Given the description of an element on the screen output the (x, y) to click on. 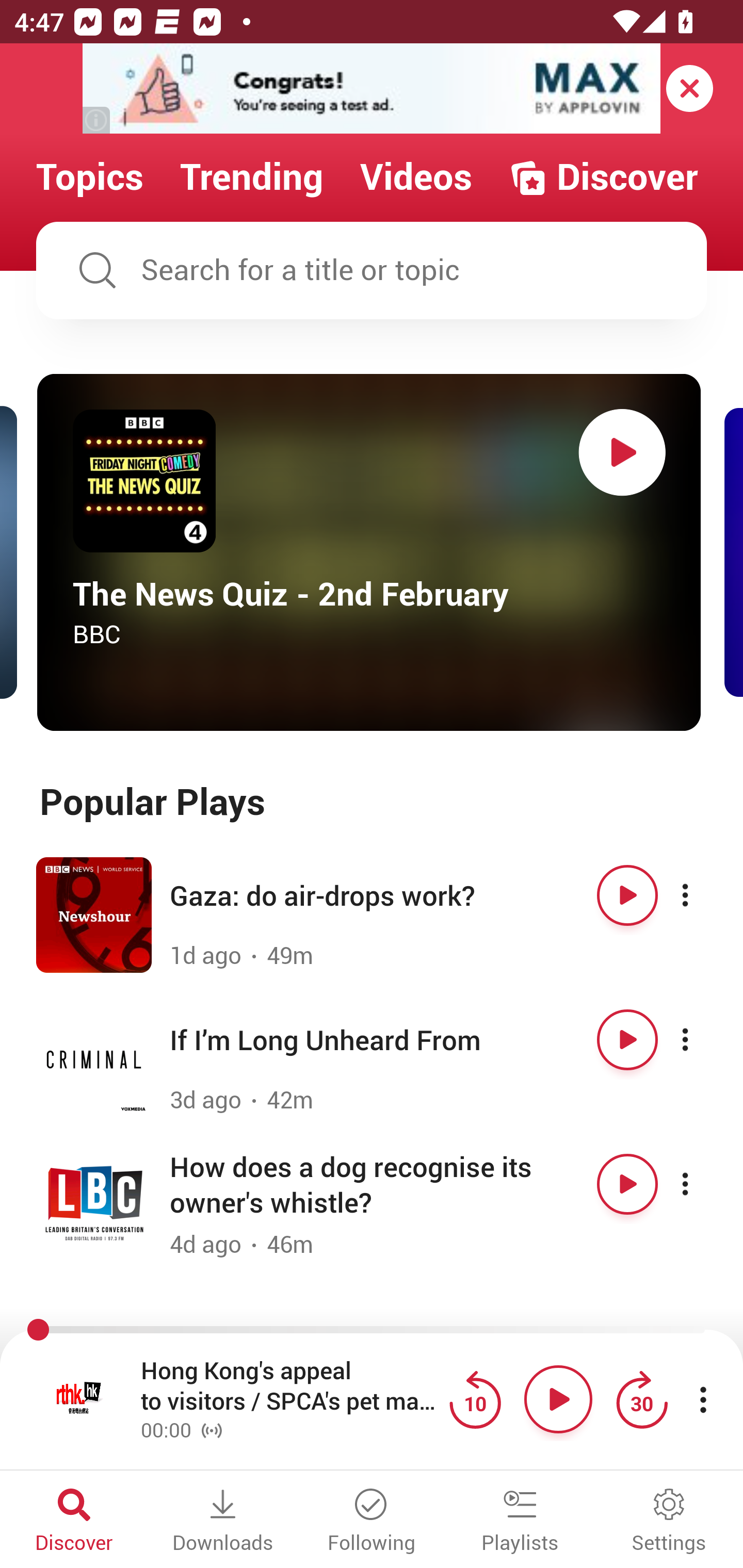
app-monetization (371, 88)
(i) (96, 119)
Topics (90, 177)
Trending (251, 177)
Videos (415, 177)
Discover (603, 177)
Search for a title or topic (371, 270)
Play button (621, 452)
Play button (627, 895)
More options (703, 895)
Play button (627, 1039)
More options (703, 1039)
Play button (627, 1184)
More options (703, 1184)
Recommended for You (371, 1331)
Open fullscreen player (79, 1399)
More player controls (703, 1399)
Play button (558, 1398)
Jump back (475, 1399)
Jump forward (641, 1399)
Discover (74, 1521)
Downloads (222, 1521)
Following (371, 1521)
Playlists (519, 1521)
Settings (668, 1521)
